Given the description of an element on the screen output the (x, y) to click on. 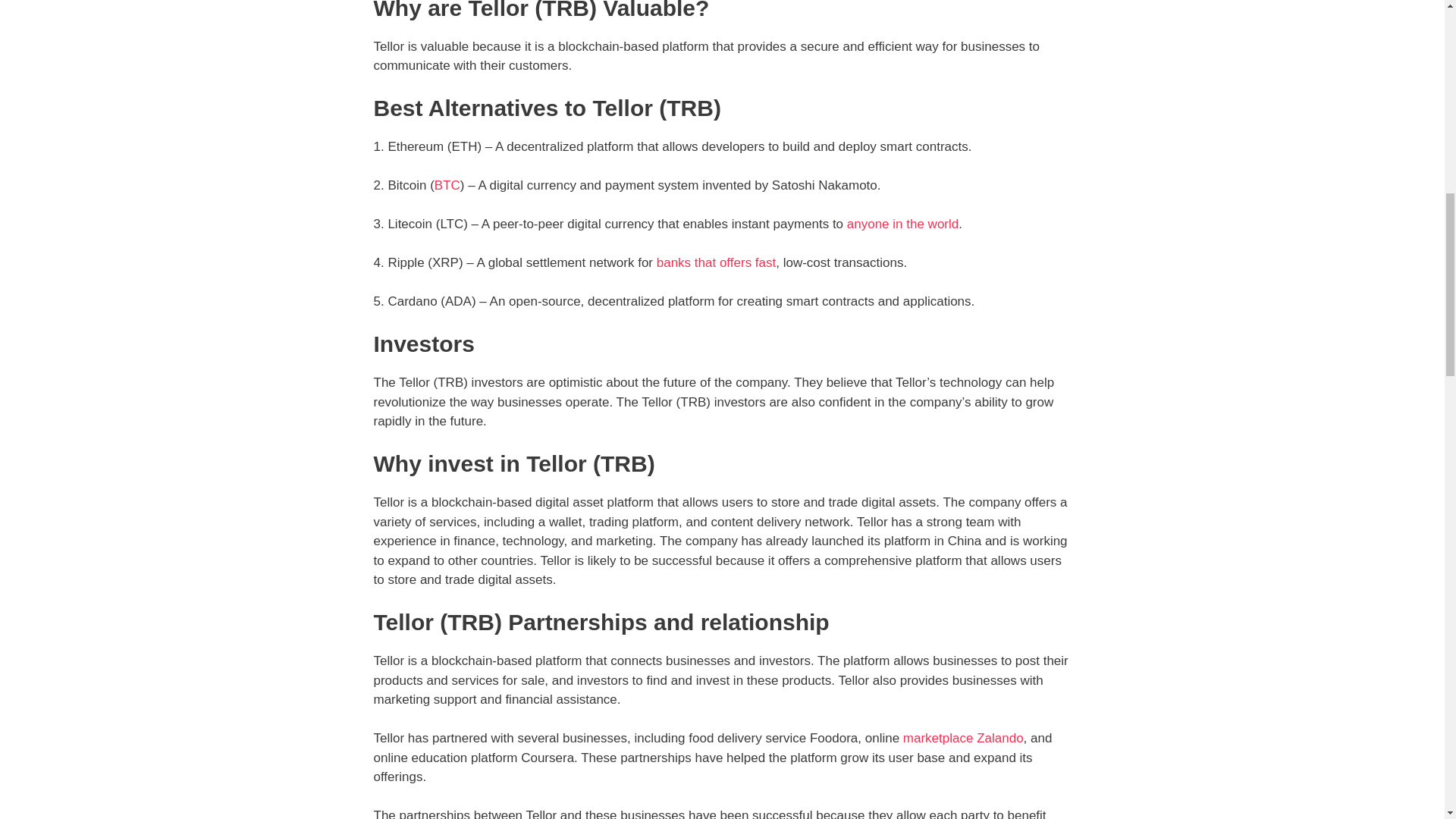
banks that offers fast (716, 262)
anyone in the world (902, 223)
BTC (446, 185)
marketplace Zalando (962, 738)
